Given the description of an element on the screen output the (x, y) to click on. 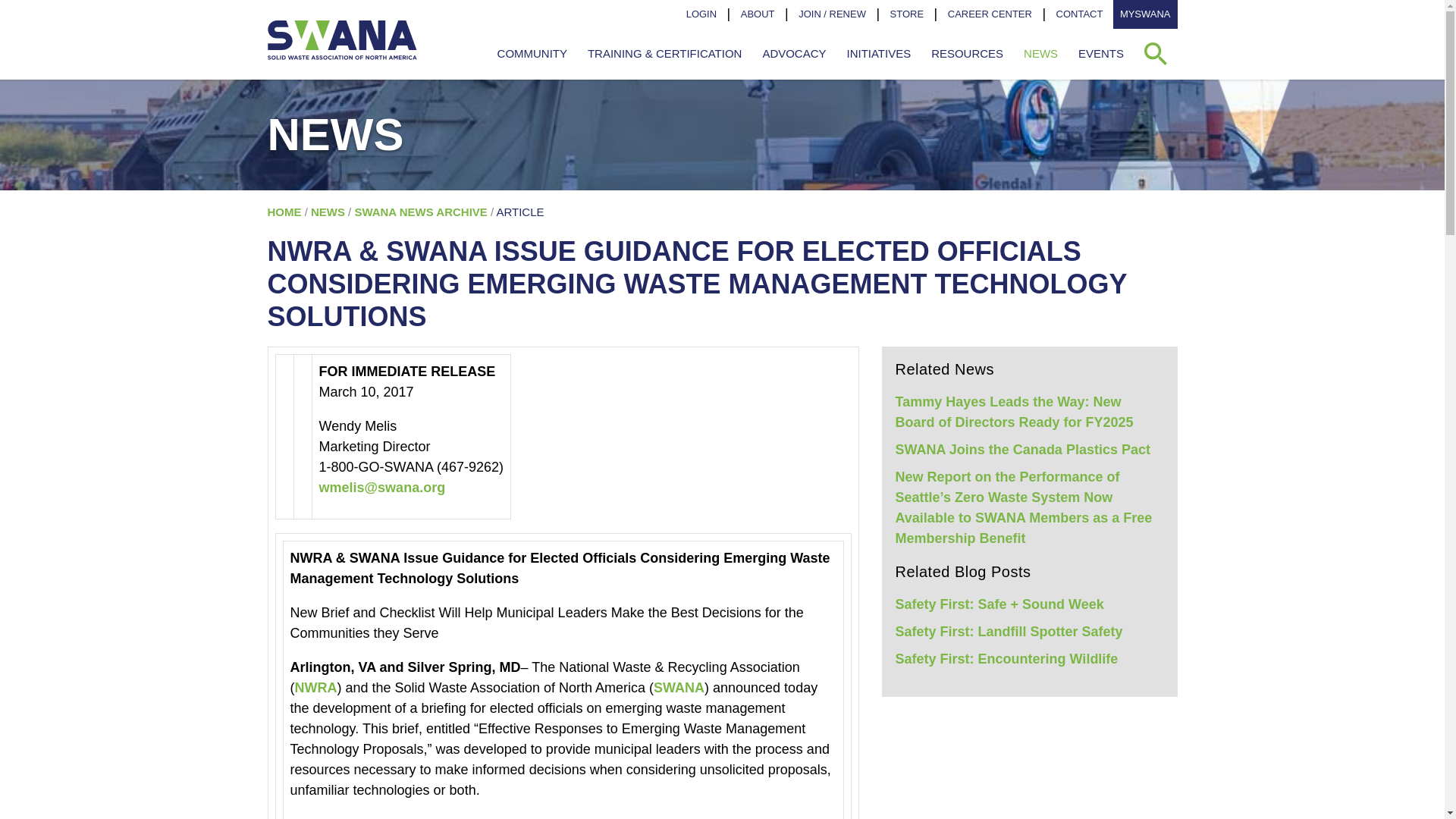
COMMUNITY (531, 54)
MYSWANA (1145, 14)
CONTACT (1079, 14)
ABOUT (757, 14)
CAREER CENTER (989, 14)
LOGIN (701, 14)
STORE (907, 14)
Search (1155, 53)
